Given the description of an element on the screen output the (x, y) to click on. 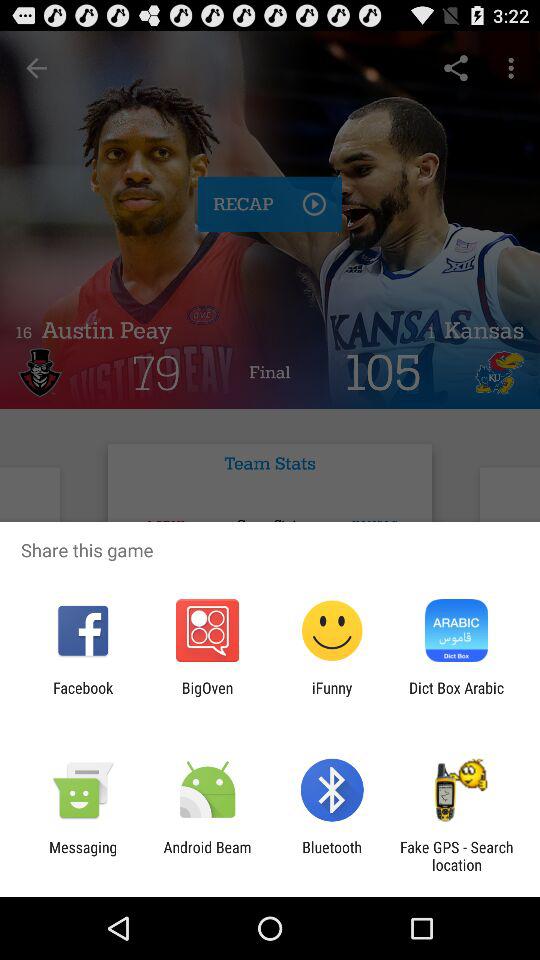
turn off the facebook icon (83, 696)
